Given the description of an element on the screen output the (x, y) to click on. 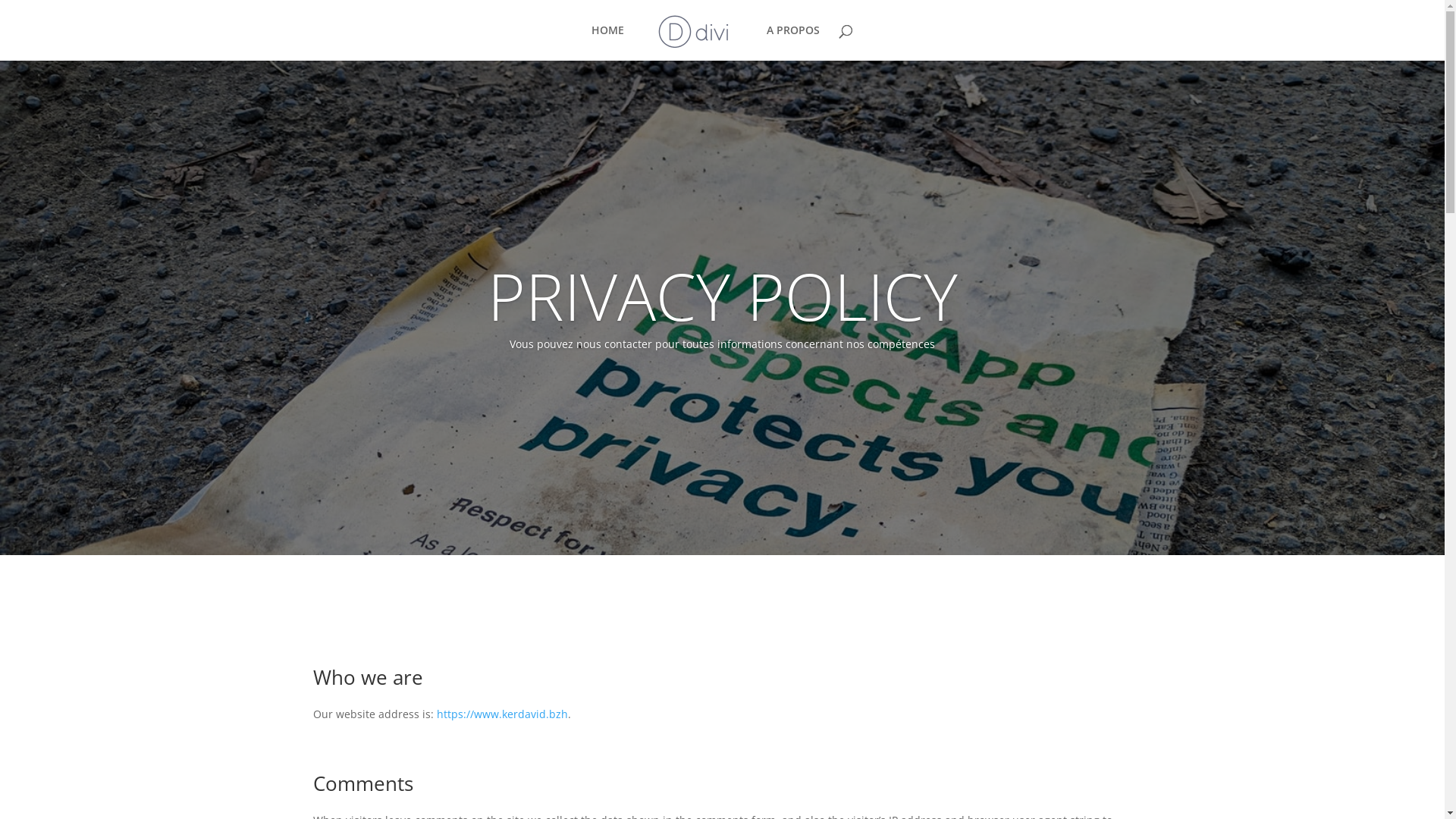
https://www.kerdavid.bzh Element type: text (501, 713)
HOME Element type: text (607, 42)
A PROPOS Element type: text (792, 42)
